Given the description of an element on the screen output the (x, y) to click on. 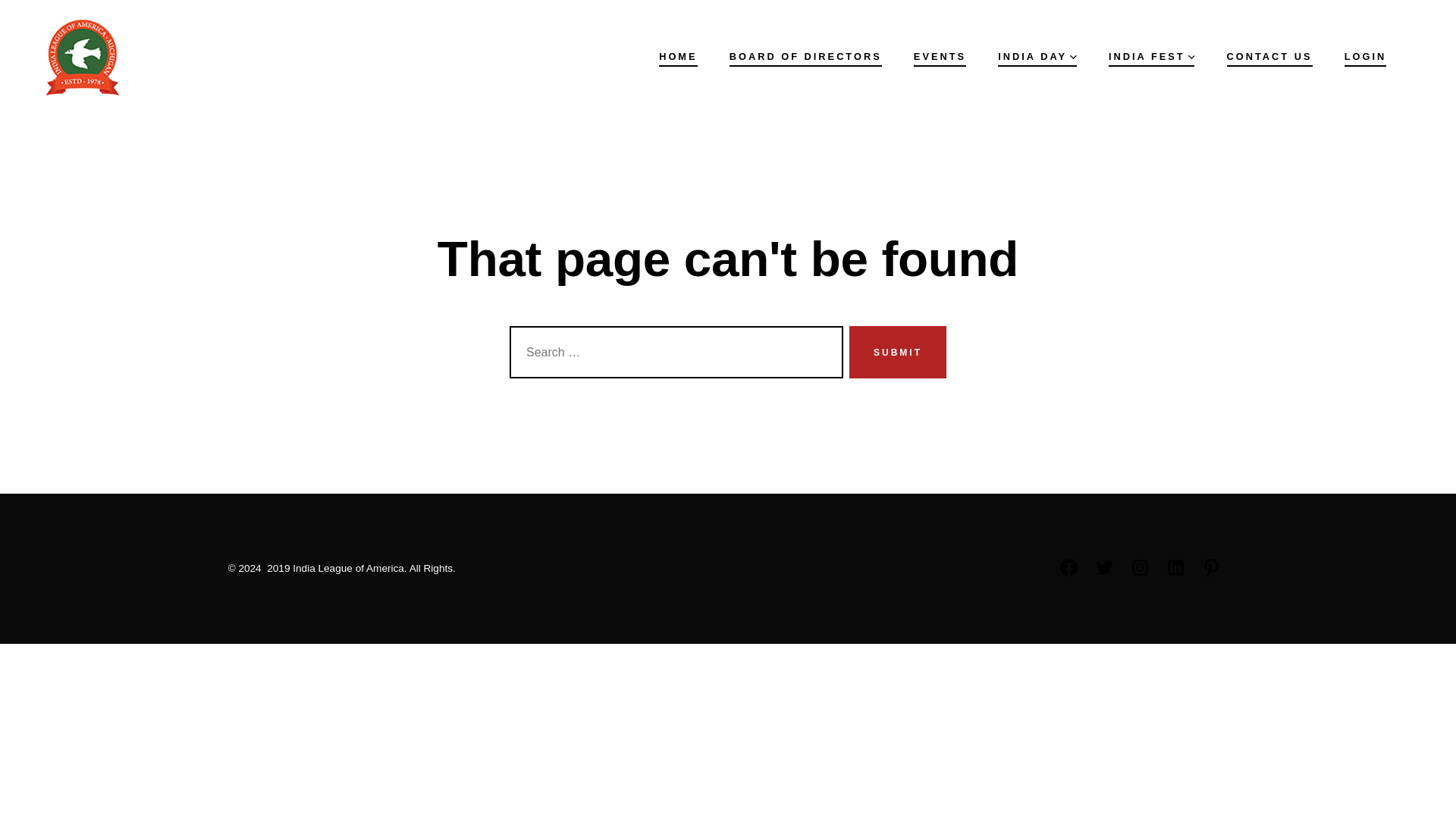
Open Facebook in a new tab (1068, 567)
Open Pinterest in a new tab (1211, 567)
CONTACT US (1270, 56)
INDIA FEST (1150, 56)
Open Twitter in a new tab (1104, 567)
EVENTS (940, 56)
LOGIN (1365, 56)
Open LinkedIn in a new tab (1175, 567)
Open Instagram in a new tab (1140, 567)
INDIA DAY (1037, 56)
HOME (678, 56)
BOARD OF DIRECTORS (805, 56)
SUBMIT (897, 352)
